Given the description of an element on the screen output the (x, y) to click on. 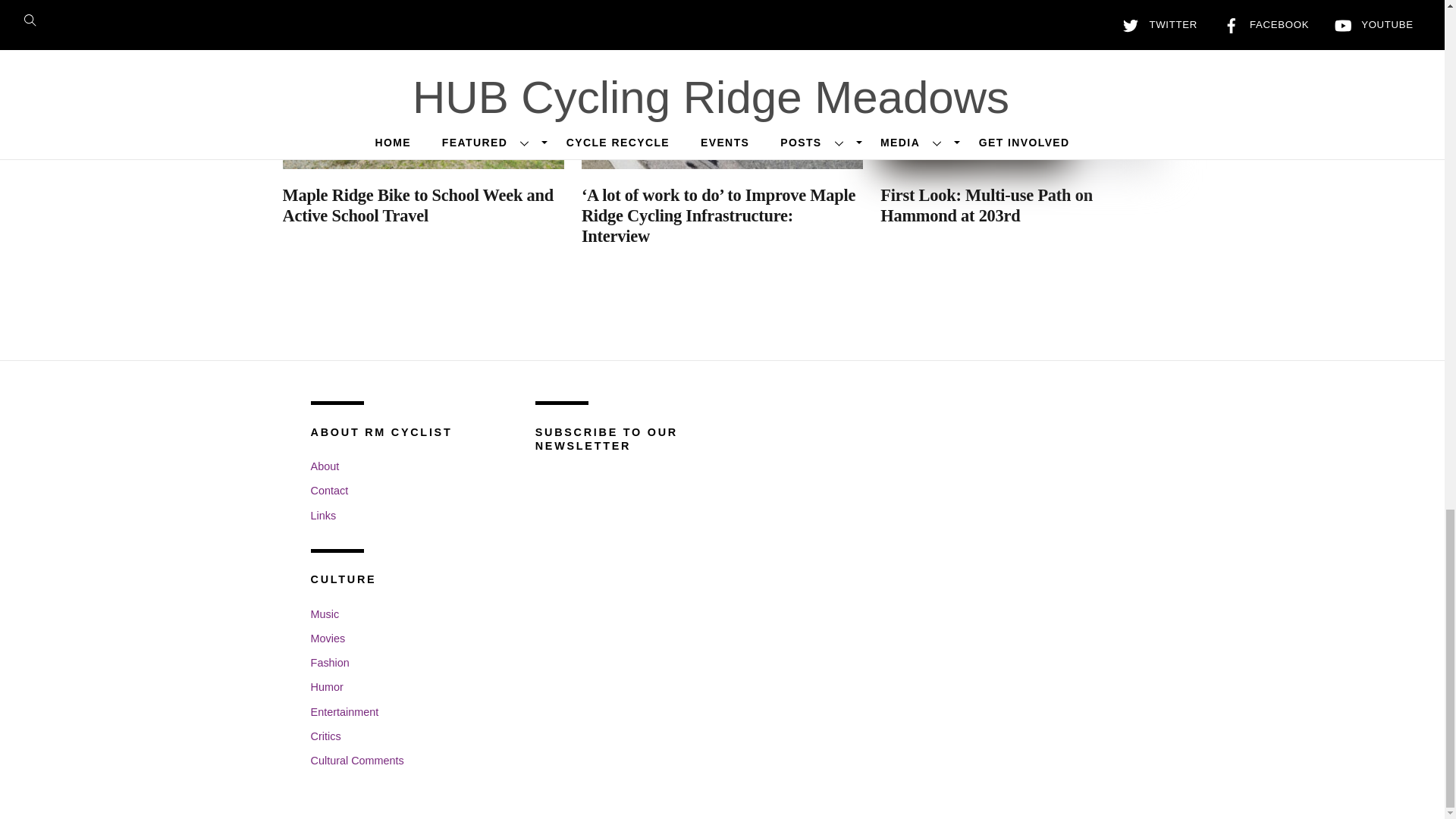
About (325, 466)
Bike to school 2024 Albion Elementary (422, 84)
Hammond MUP 1-1 (1020, 84)
maple ridge news interview (721, 84)
First Look: Multi-use Path on Hammond at 203rd (986, 205)
Maple Ridge Bike to School Week and Active School Travel (417, 205)
